Given the description of an element on the screen output the (x, y) to click on. 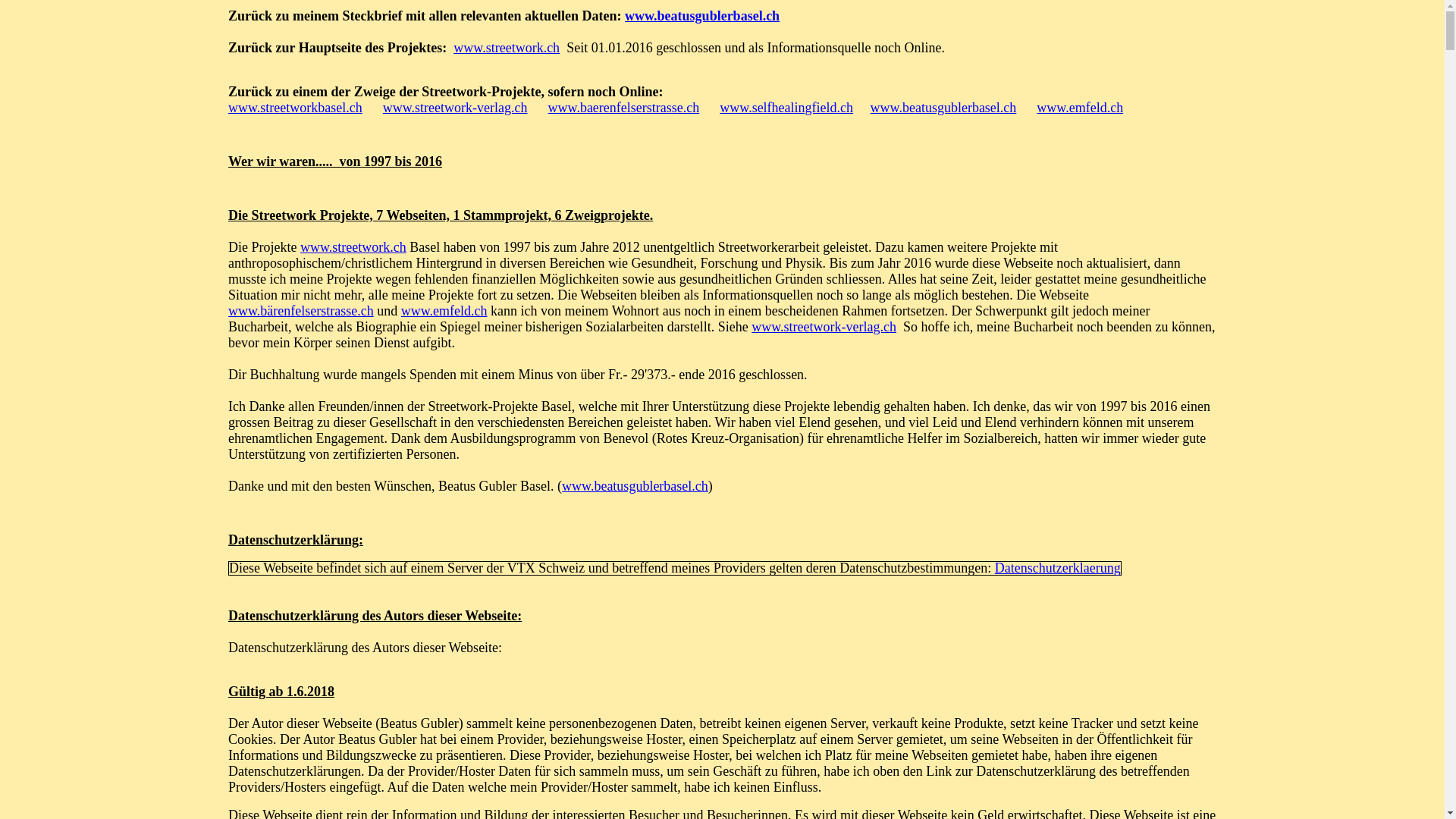
Datenschutzerklaerung Element type: text (1057, 567)
www.streetworkbasel.ch Element type: text (295, 107)
www.baerenfelserstrasse.ch Element type: text (623, 107)
www.beatusgublerbasel.ch Element type: text (634, 485)
www.streetwork-verlag.ch Element type: text (454, 107)
www.streetwork.ch Element type: text (353, 246)
www.beatusgublerbasel.ch Element type: text (943, 107)
www.streetwork-verlag.ch Element type: text (823, 326)
www.emfeld.ch Element type: text (444, 310)
www.emfeld.ch Element type: text (1079, 107)
www.streetwork.ch Element type: text (506, 47)
www.beatusgublerbasel.ch Element type: text (701, 15)
www.selfhealingfield.ch Element type: text (786, 107)
